Given the description of an element on the screen output the (x, y) to click on. 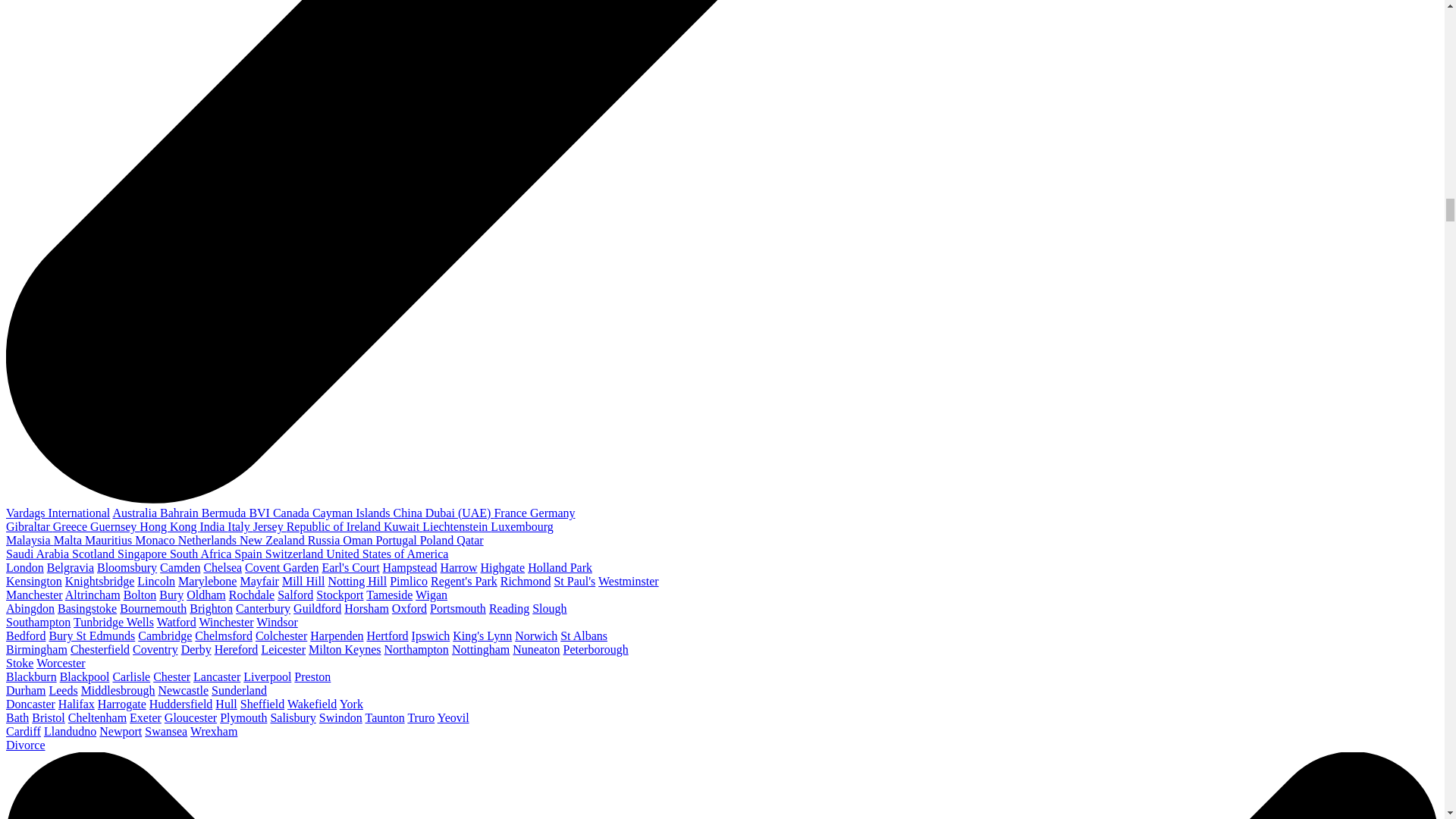
BVI (260, 512)
Bahrain (181, 512)
Bermuda (225, 512)
China (409, 512)
Vardags International (57, 512)
Cayman Islands (353, 512)
Australia (136, 512)
Canada (293, 512)
